Given the description of an element on the screen output the (x, y) to click on. 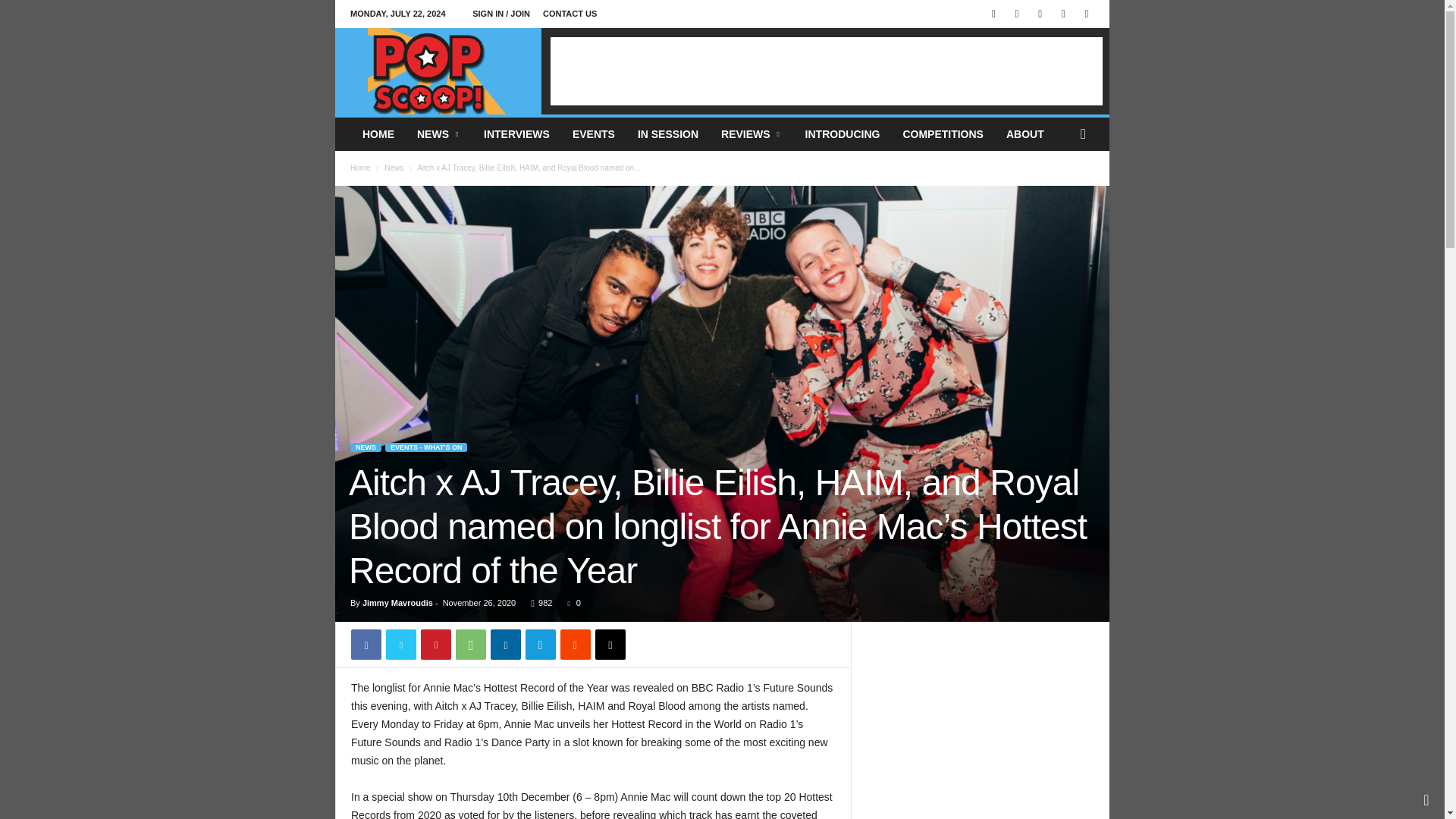
CONTACT US (569, 13)
View all posts in News (393, 167)
HOME (378, 133)
Advertisement (826, 70)
Pop Scoop (437, 70)
NEWS (438, 133)
INTERVIEWS (515, 133)
